Given the description of an element on the screen output the (x, y) to click on. 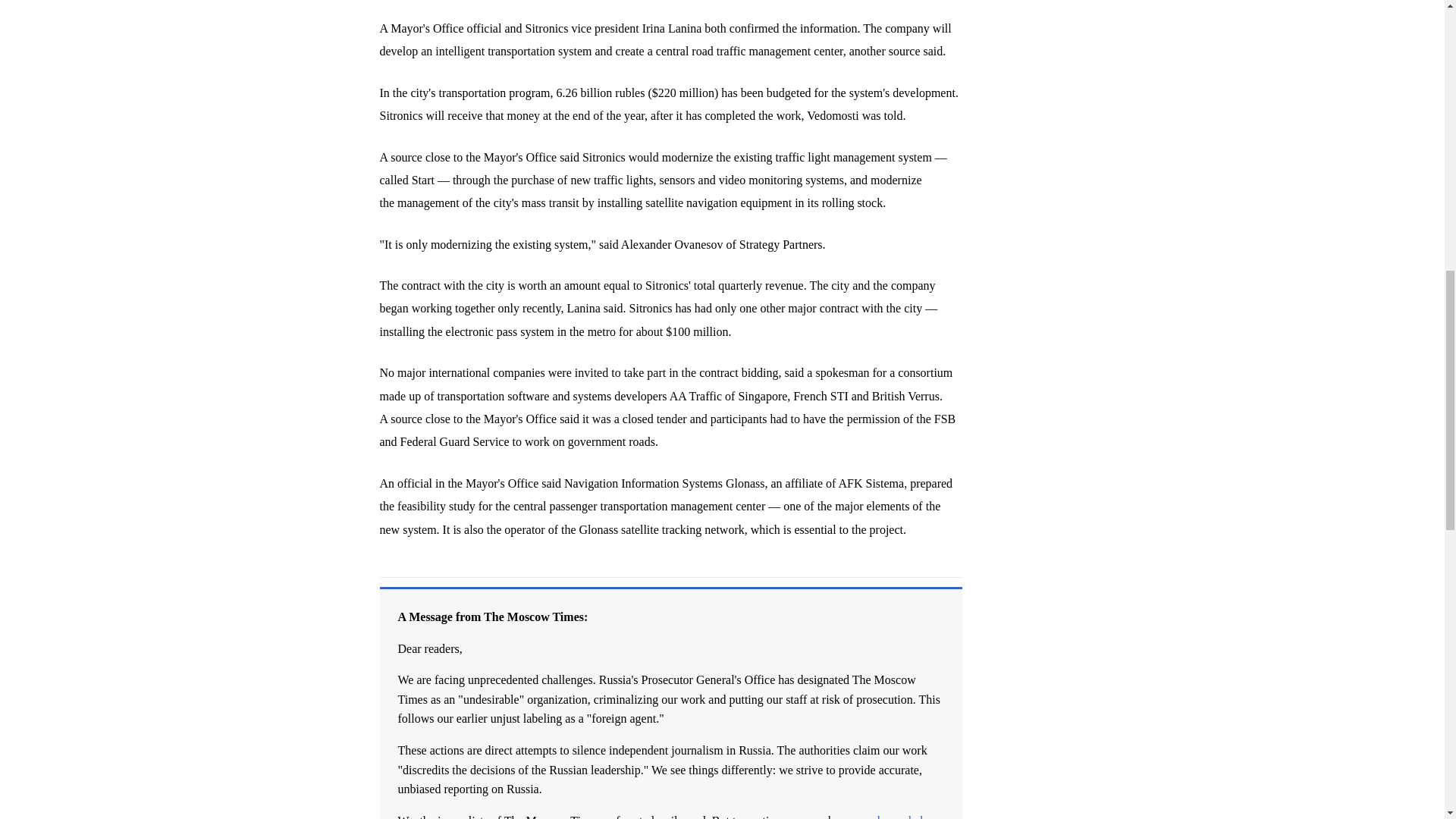
we need your help (885, 816)
